Given the description of an element on the screen output the (x, y) to click on. 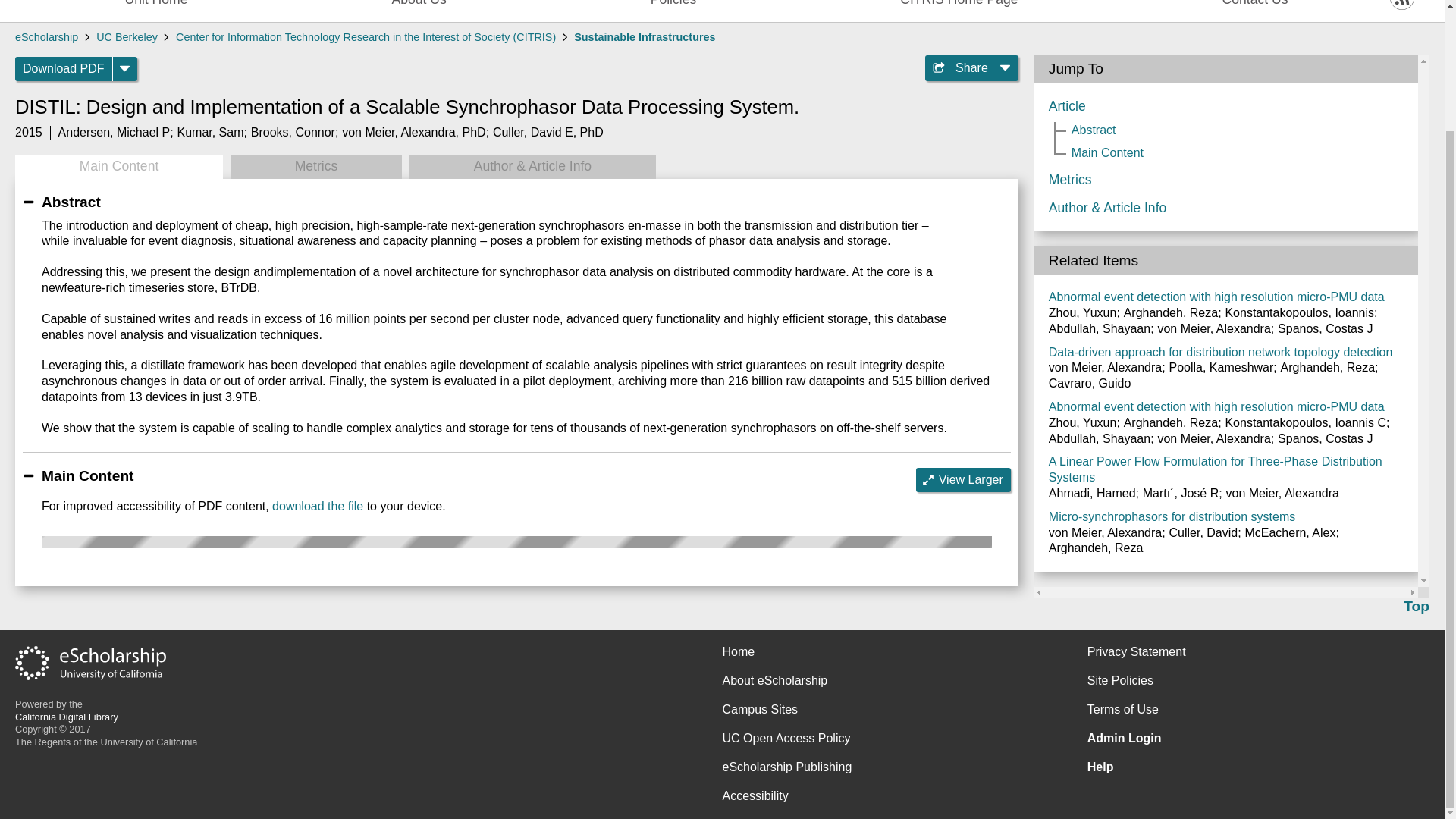
Main Content (118, 166)
Unit Home (155, 7)
UC Berkeley (126, 37)
Download PDF (63, 68)
CITRIS Home Page (958, 7)
About Us (418, 7)
Brooks, Connor (292, 132)
von Meier, Alexandra, PhD (413, 132)
Policies (673, 7)
View Larger (962, 479)
